Given the description of an element on the screen output the (x, y) to click on. 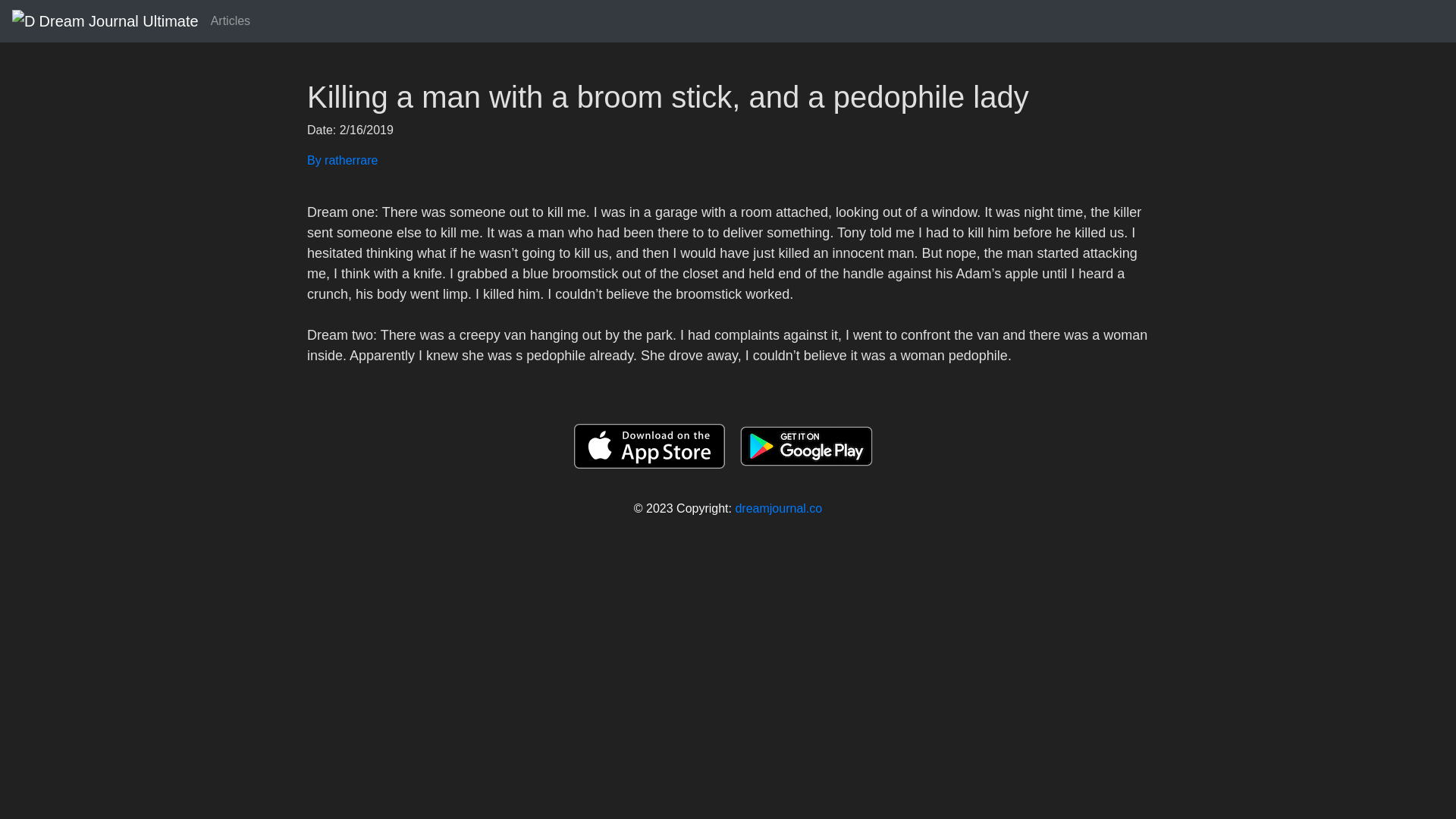
By ratherrare (727, 160)
Dream Journal Ultimate (104, 20)
Articles (230, 20)
dreamjournal.co (778, 508)
